Given the description of an element on the screen output the (x, y) to click on. 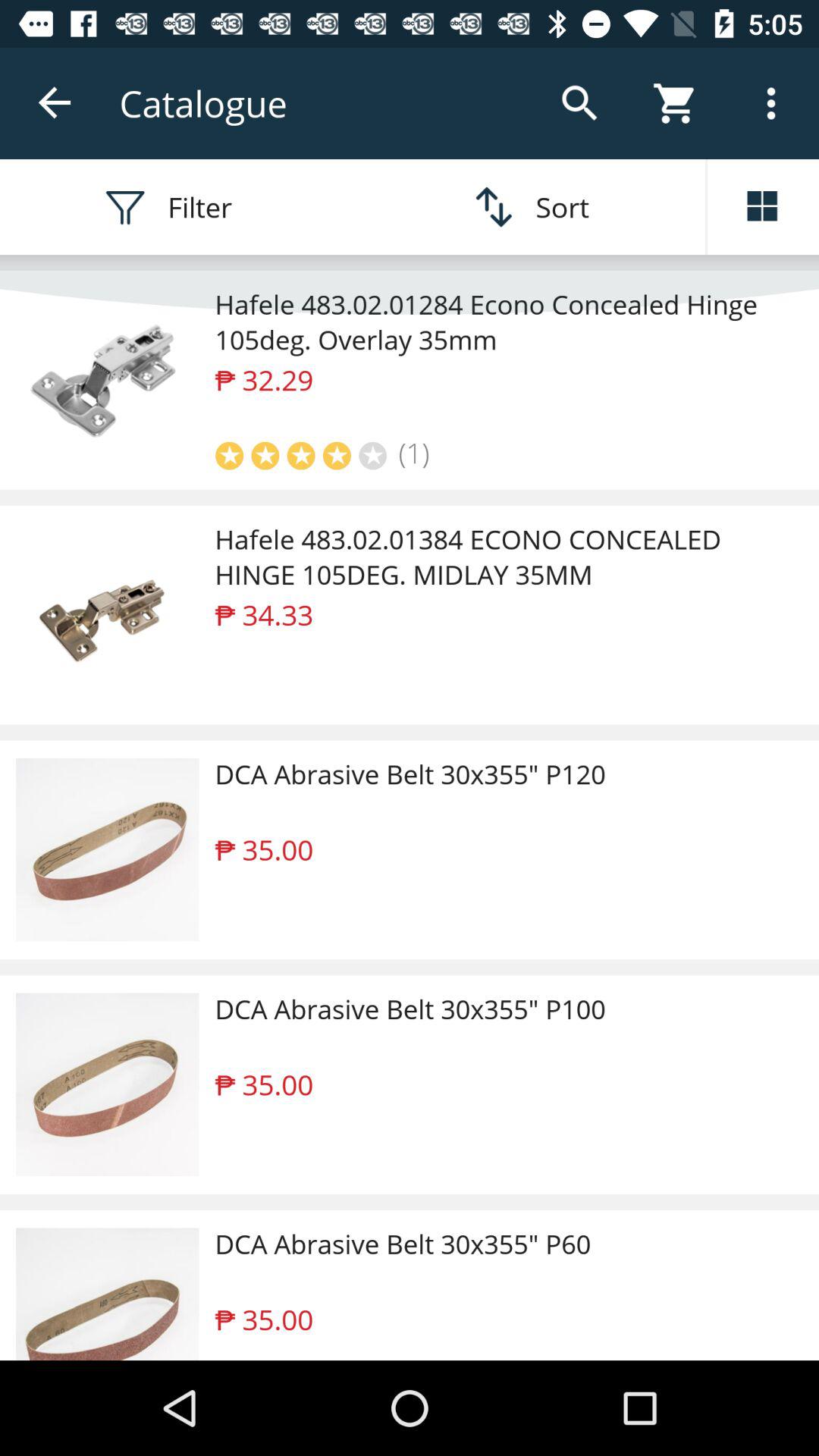
click the icon above the filter icon (55, 103)
